Given the description of an element on the screen output the (x, y) to click on. 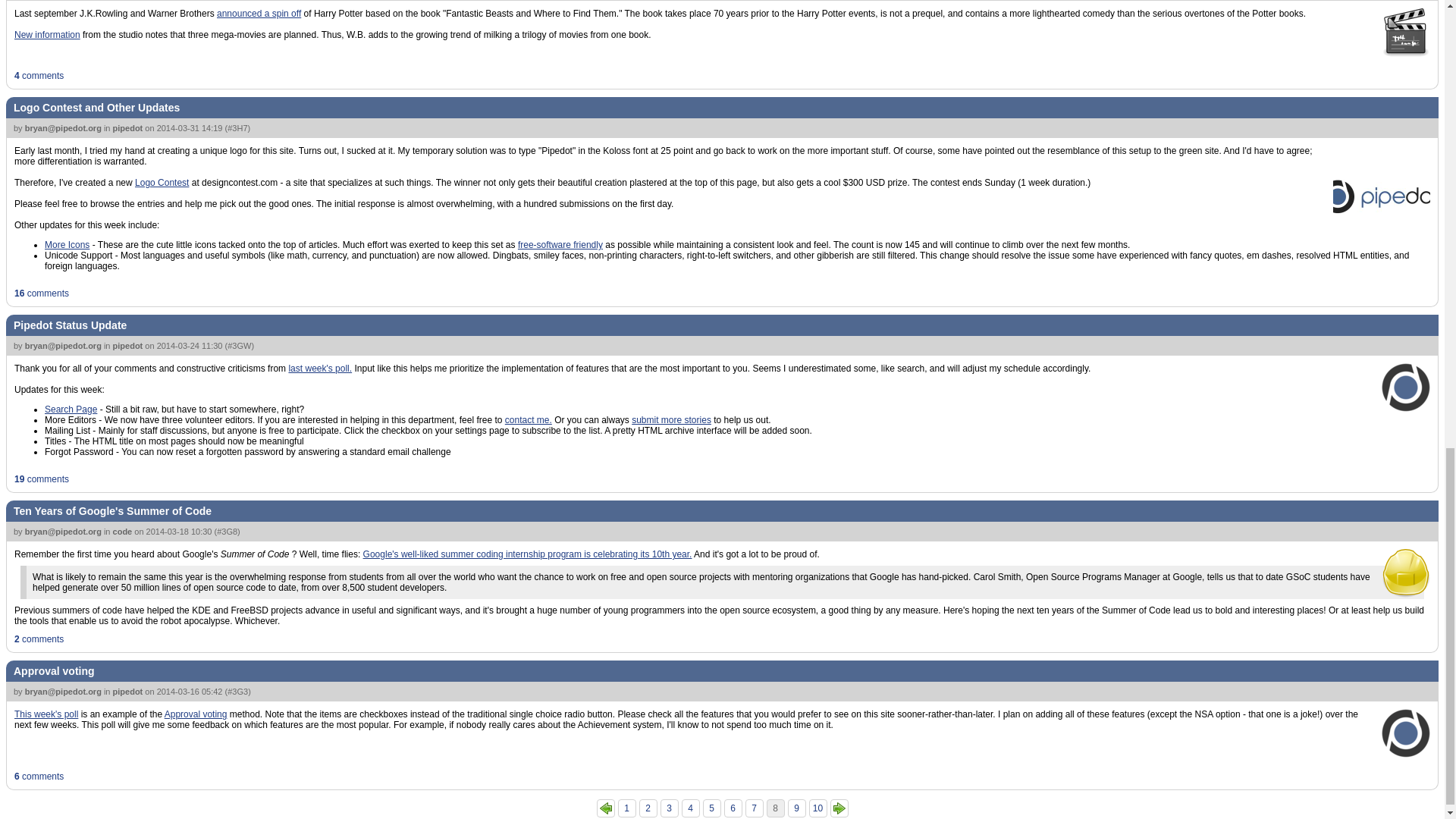
Back (604, 808)
Next (838, 808)
